Given the description of an element on the screen output the (x, y) to click on. 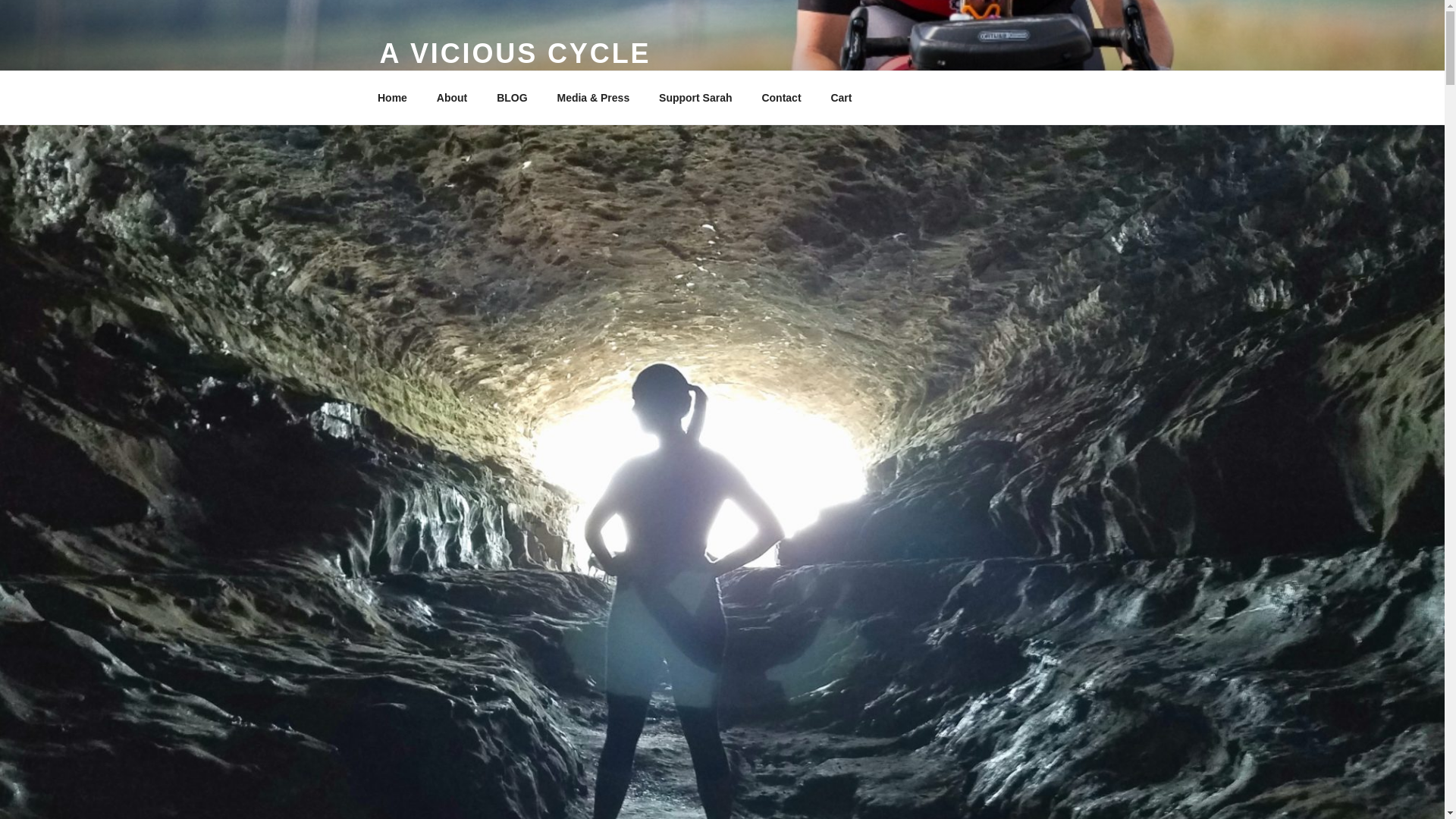
Home (392, 97)
About (451, 97)
A VICIOUS CYCLE (514, 52)
Contact (780, 97)
Support Sarah (695, 97)
BLOG (511, 97)
Cart (840, 97)
